Given the description of an element on the screen output the (x, y) to click on. 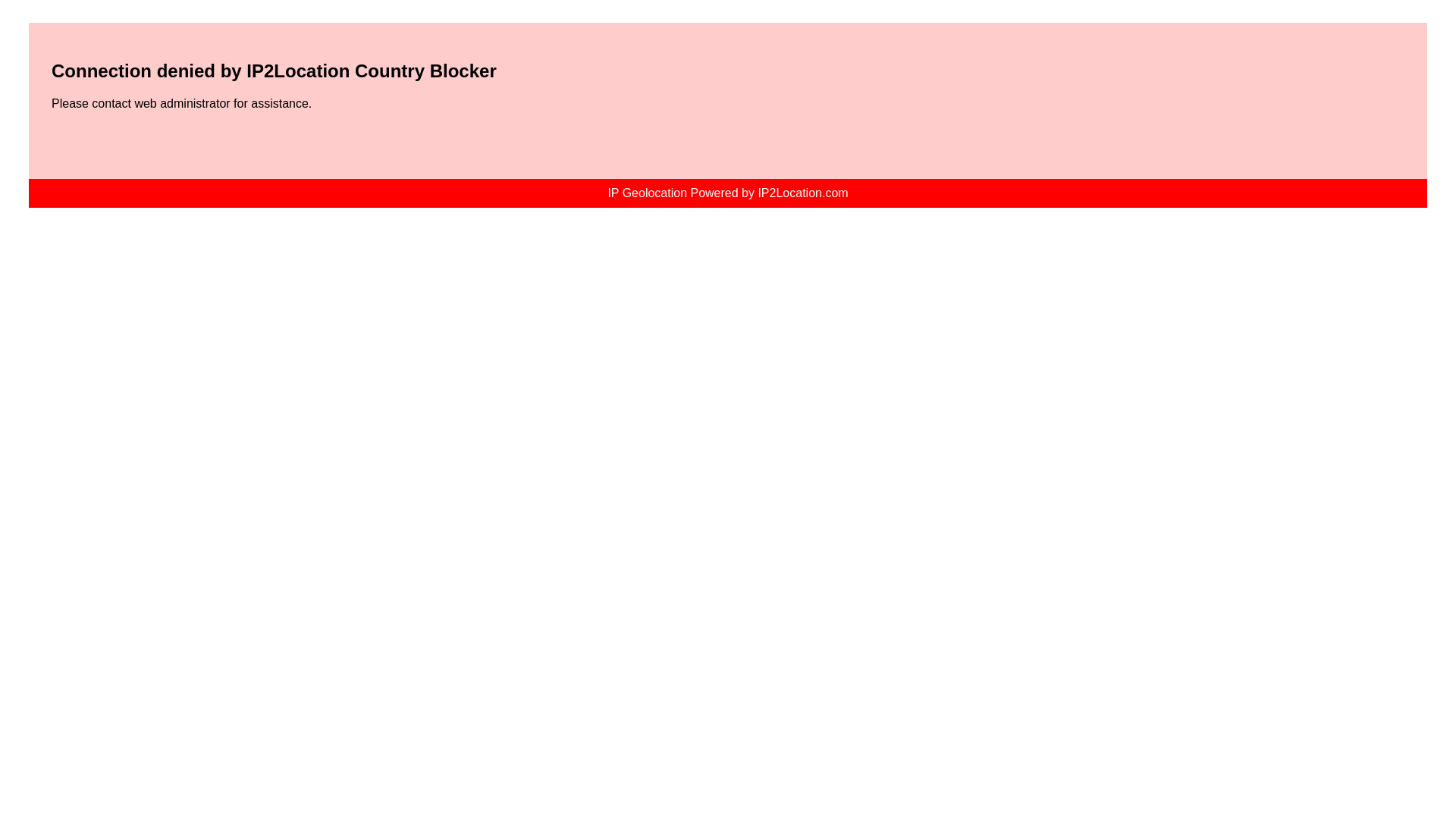
IP Geolocation Powered by IP2Location.com (727, 192)
